Given the description of an element on the screen output the (x, y) to click on. 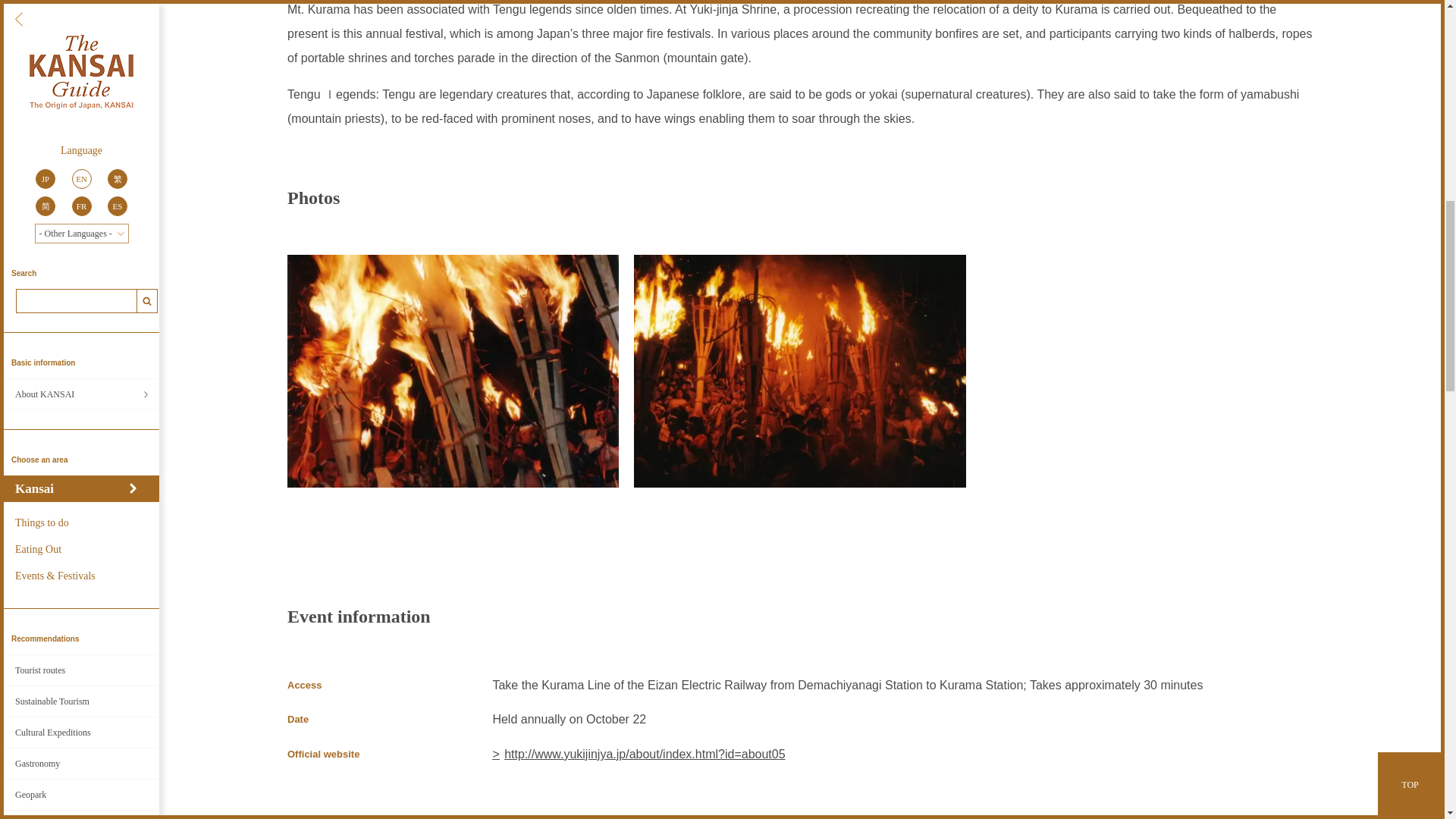
Videos (81, 72)
Photos (81, 103)
